Given the description of an element on the screen output the (x, y) to click on. 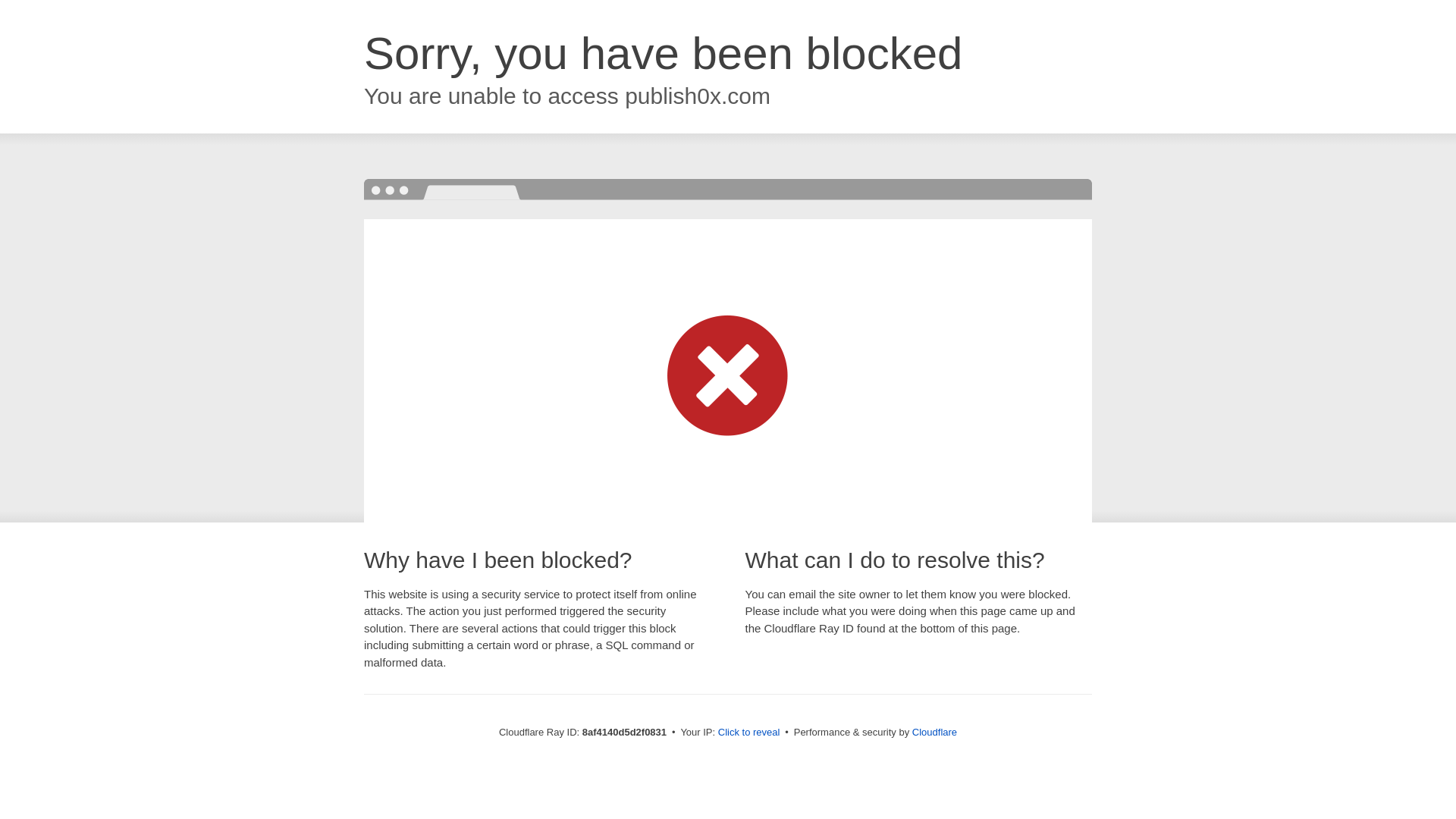
Click to reveal (748, 732)
Cloudflare (934, 731)
